Given the description of an element on the screen output the (x, y) to click on. 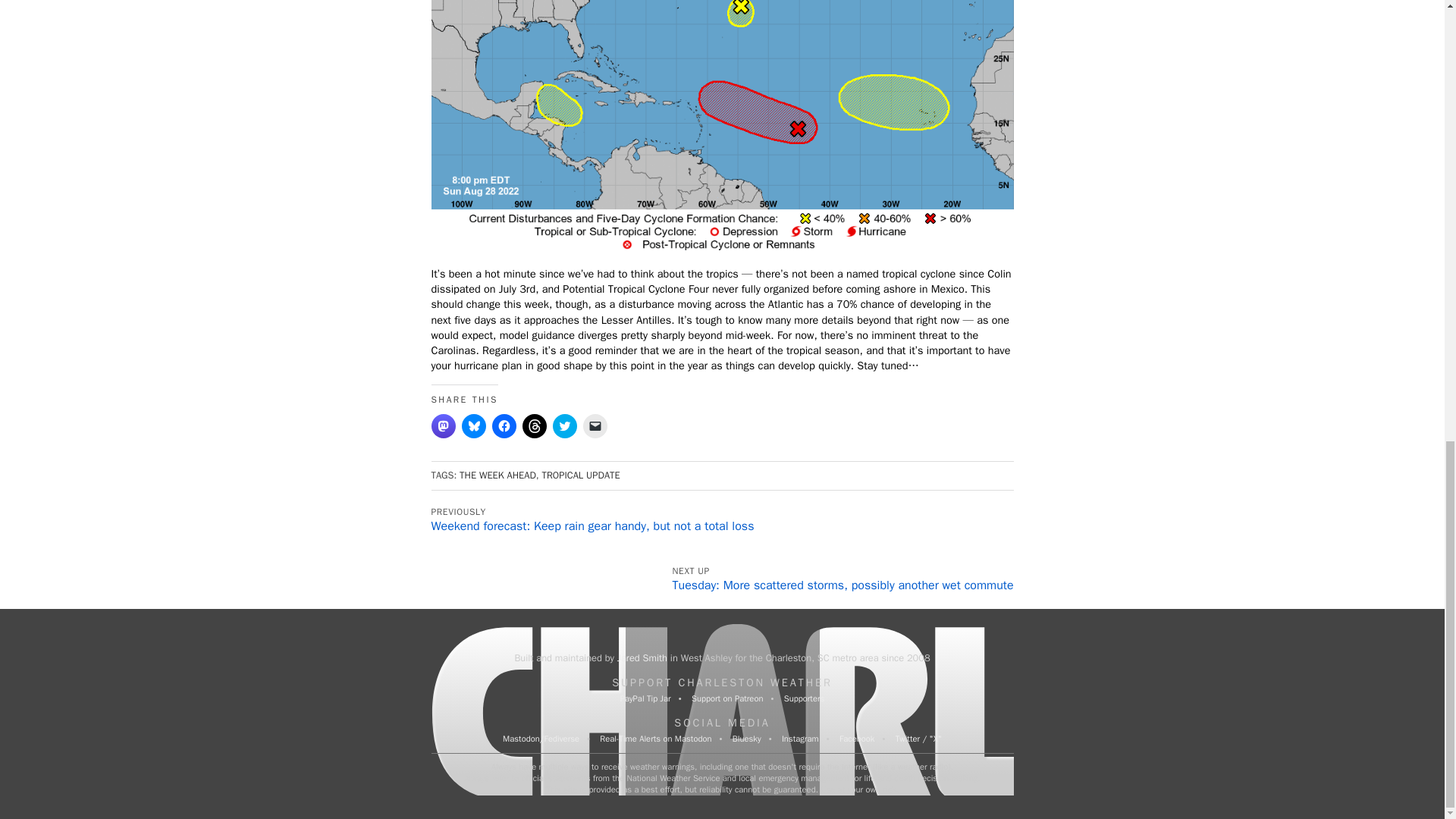
Tuesday: More scattered storms, possibly another wet commute (842, 585)
PayPal Tip Jar (645, 697)
TROPICAL UPDATE (580, 475)
Real-Time Alerts on Mastodon (655, 738)
THE WEEK AHEAD (497, 475)
Bluesky (746, 738)
Jared Smith (641, 657)
Supporters (804, 697)
Instagram (799, 738)
Sorry Elon. It's still Twitter. (918, 738)
